Given the description of an element on the screen output the (x, y) to click on. 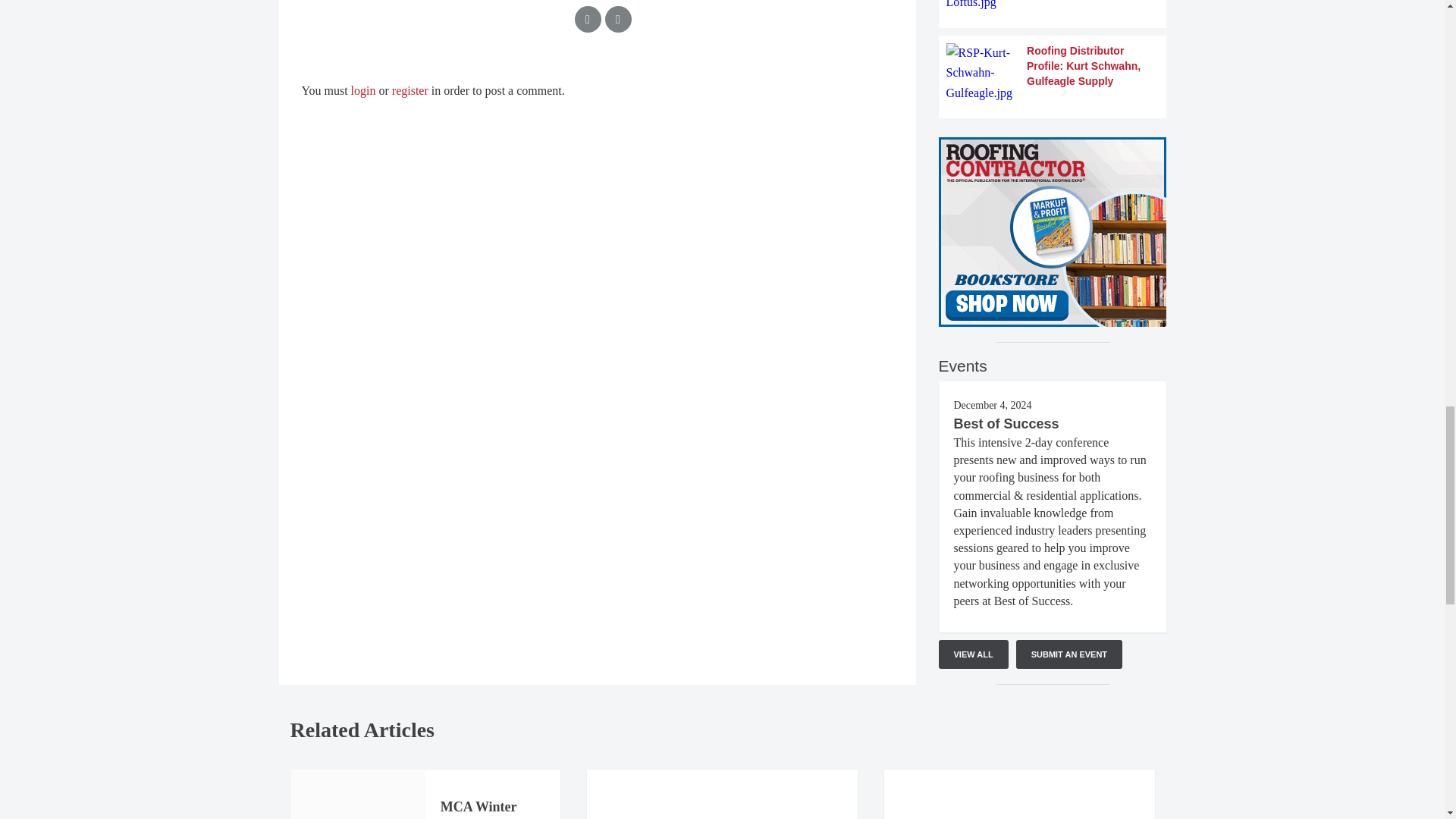
Best of Success (1006, 423)
Roofing Distributor Profile: Kurt Schwahn, Gulfeagle Supply (1052, 73)
